Given the description of an element on the screen output the (x, y) to click on. 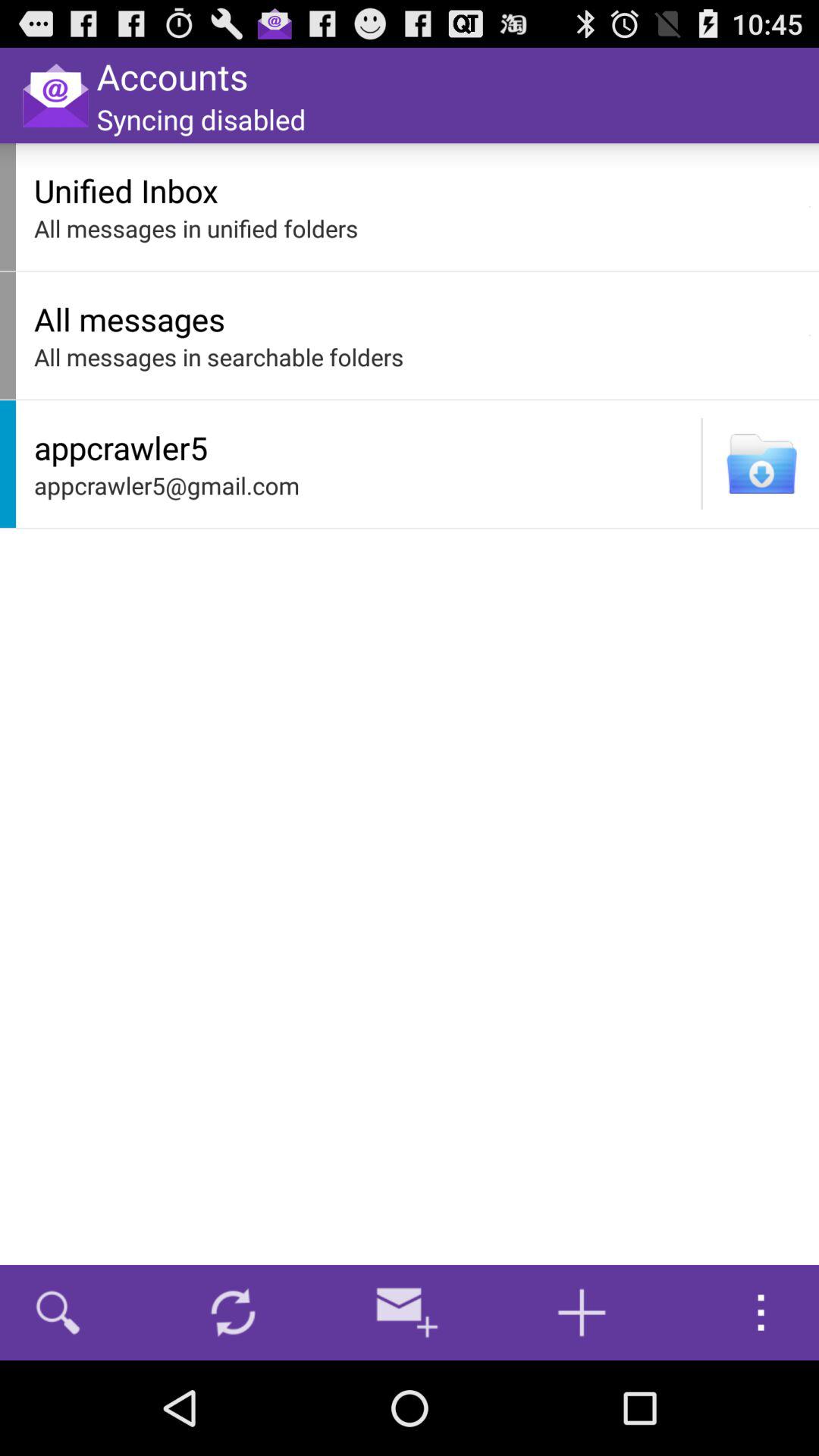
tap the appcrawler5@gmail.com at the center (363, 485)
